Given the description of an element on the screen output the (x, y) to click on. 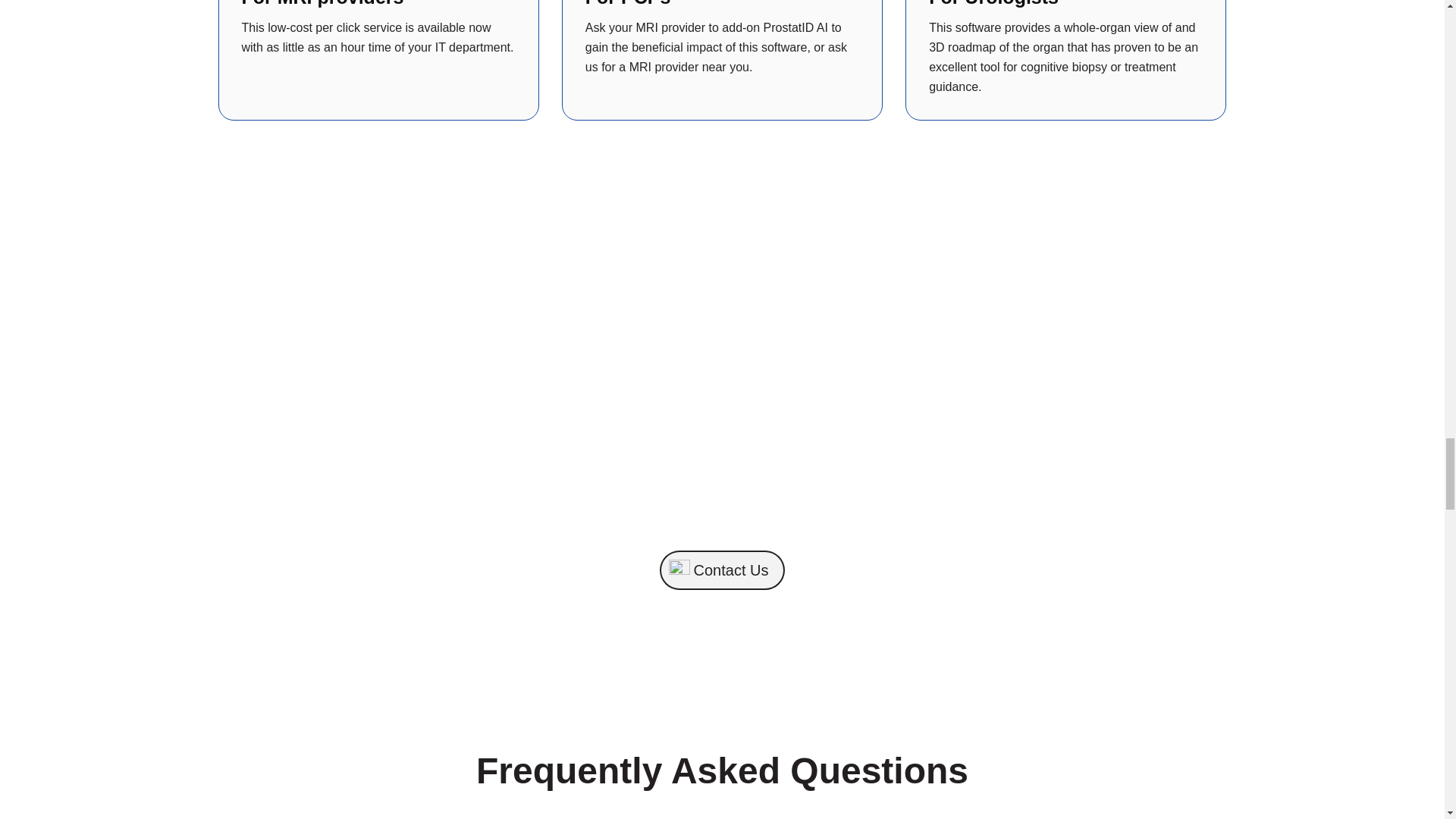
Contact Us (722, 569)
Contact Us (722, 569)
